Given the description of an element on the screen output the (x, y) to click on. 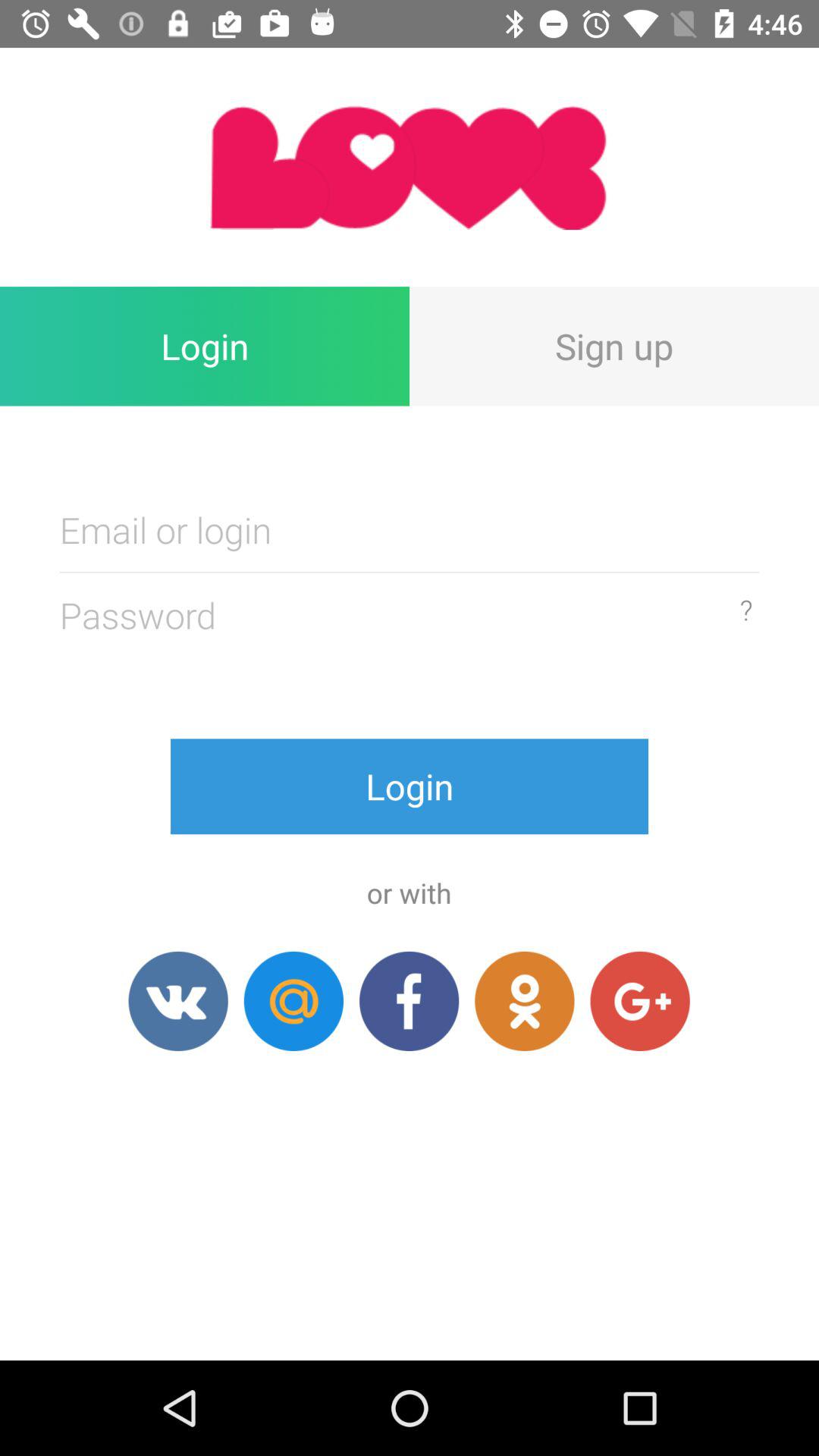
swipe to sign up (614, 346)
